Given the description of an element on the screen output the (x, y) to click on. 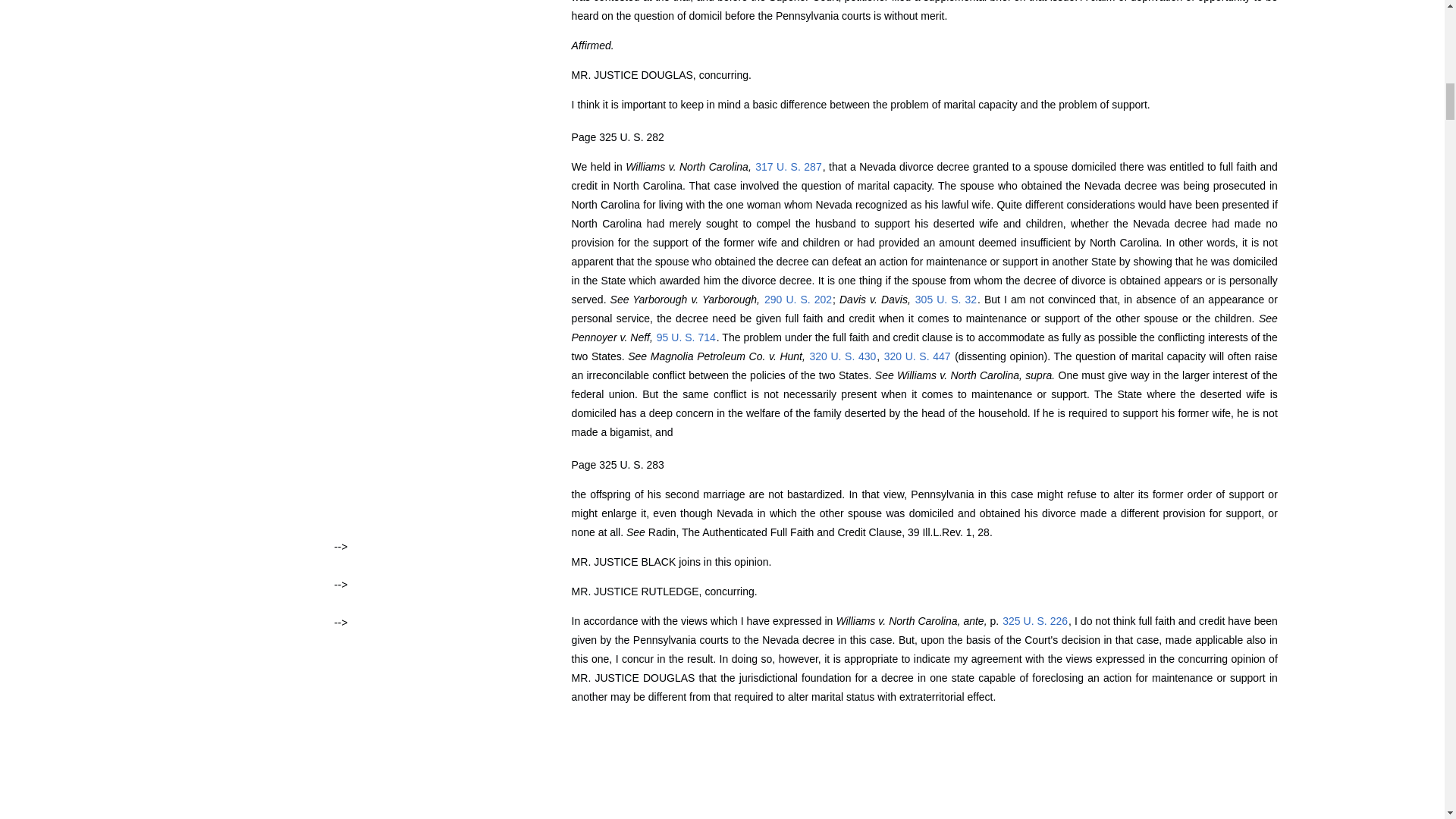
320 U. S. 447 (917, 356)
290 U. S. 202 (797, 299)
Page 325 U. S. 282 (617, 137)
305 U. S. 32 (945, 299)
Page 325 U. S. 283 (617, 464)
325 U. S. 226 (1034, 621)
95 U. S. 714 (686, 337)
317 U. S. 287 (788, 166)
320 U. S. 430 (842, 356)
